Given the description of an element on the screen output the (x, y) to click on. 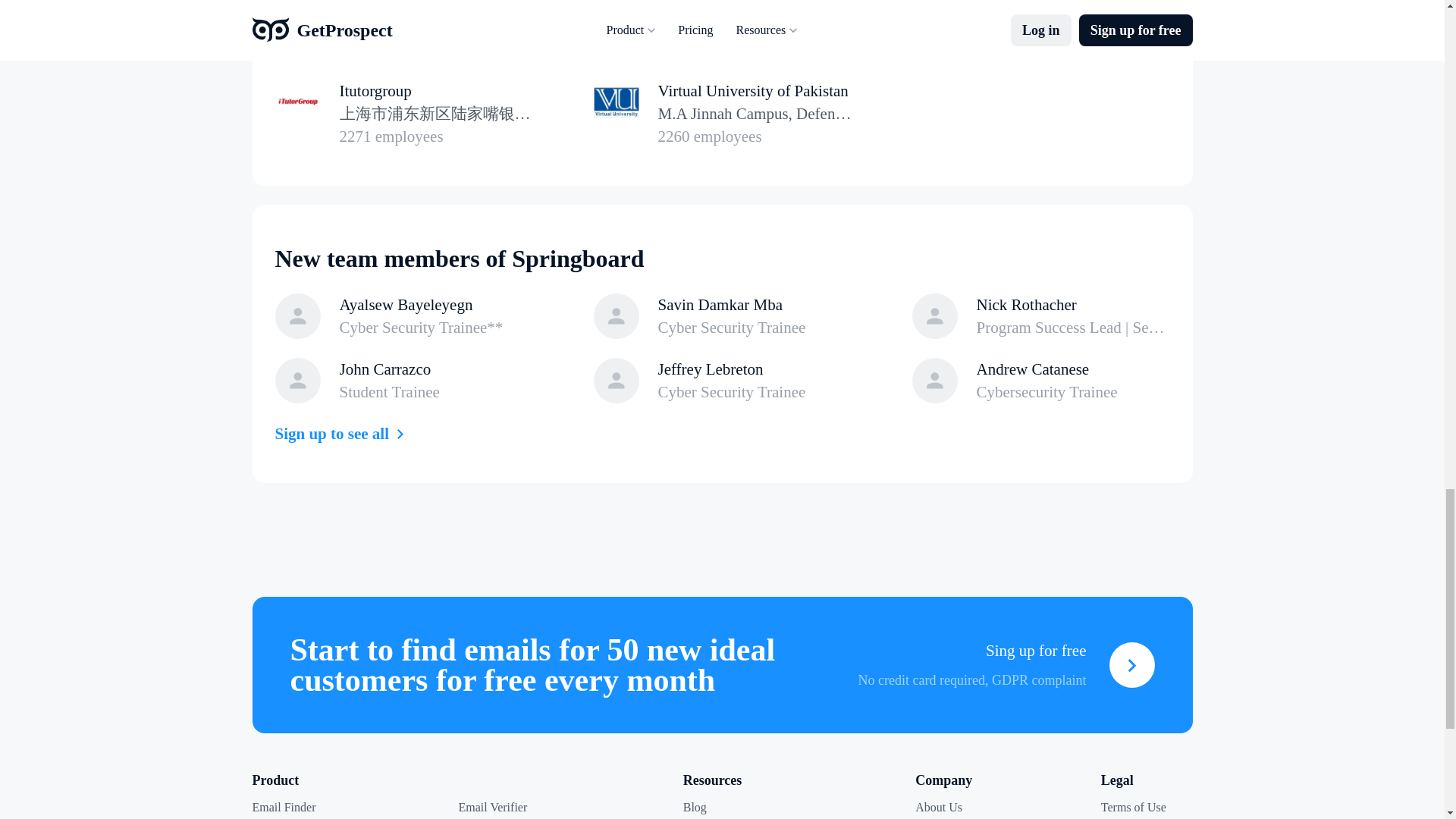
Sign up to see all (1040, 30)
Email Finder (343, 433)
